Given the description of an element on the screen output the (x, y) to click on. 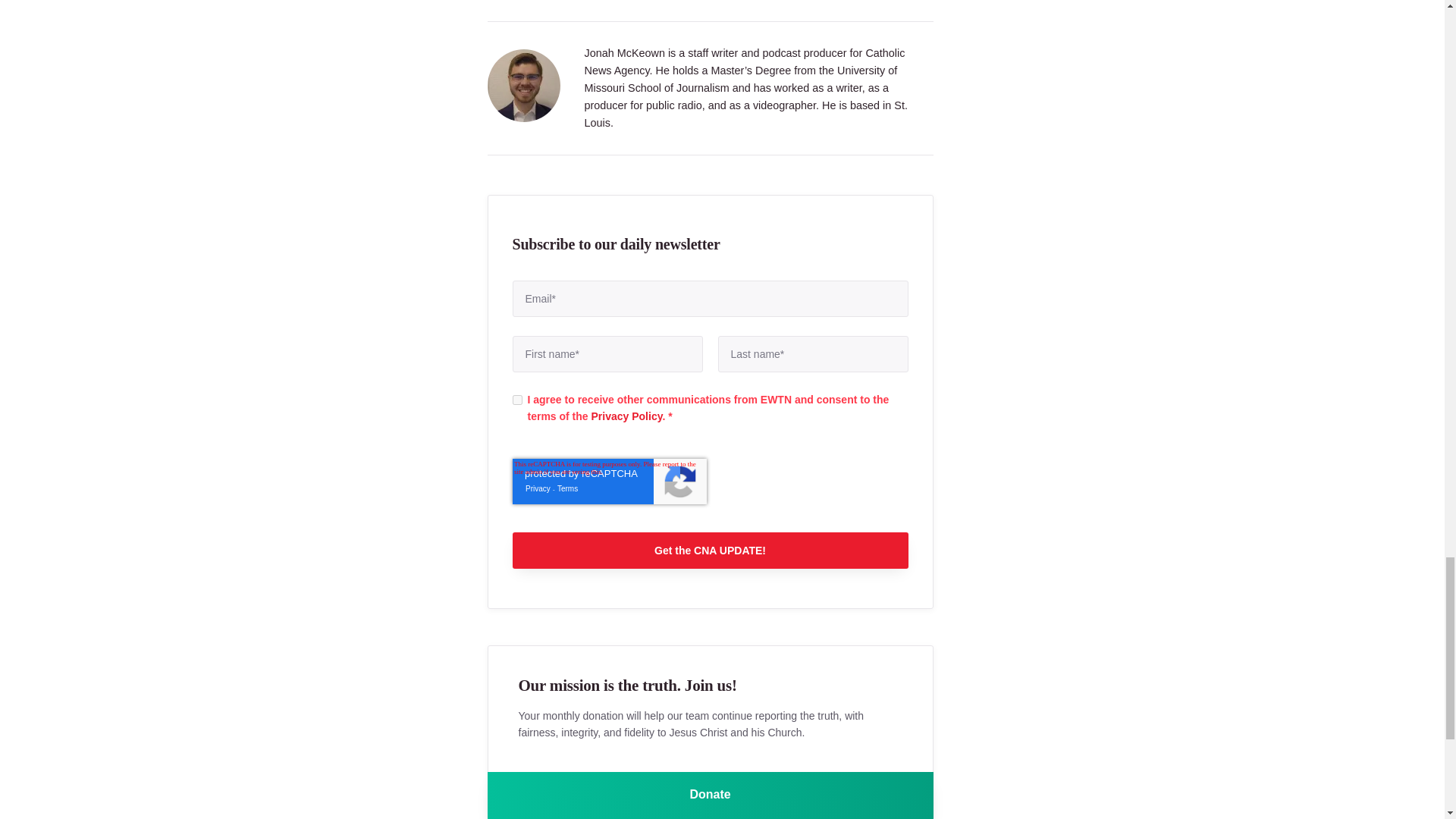
Get the CNA UPDATE! (710, 550)
reCAPTCHA (609, 481)
true (517, 399)
